Given the description of an element on the screen output the (x, y) to click on. 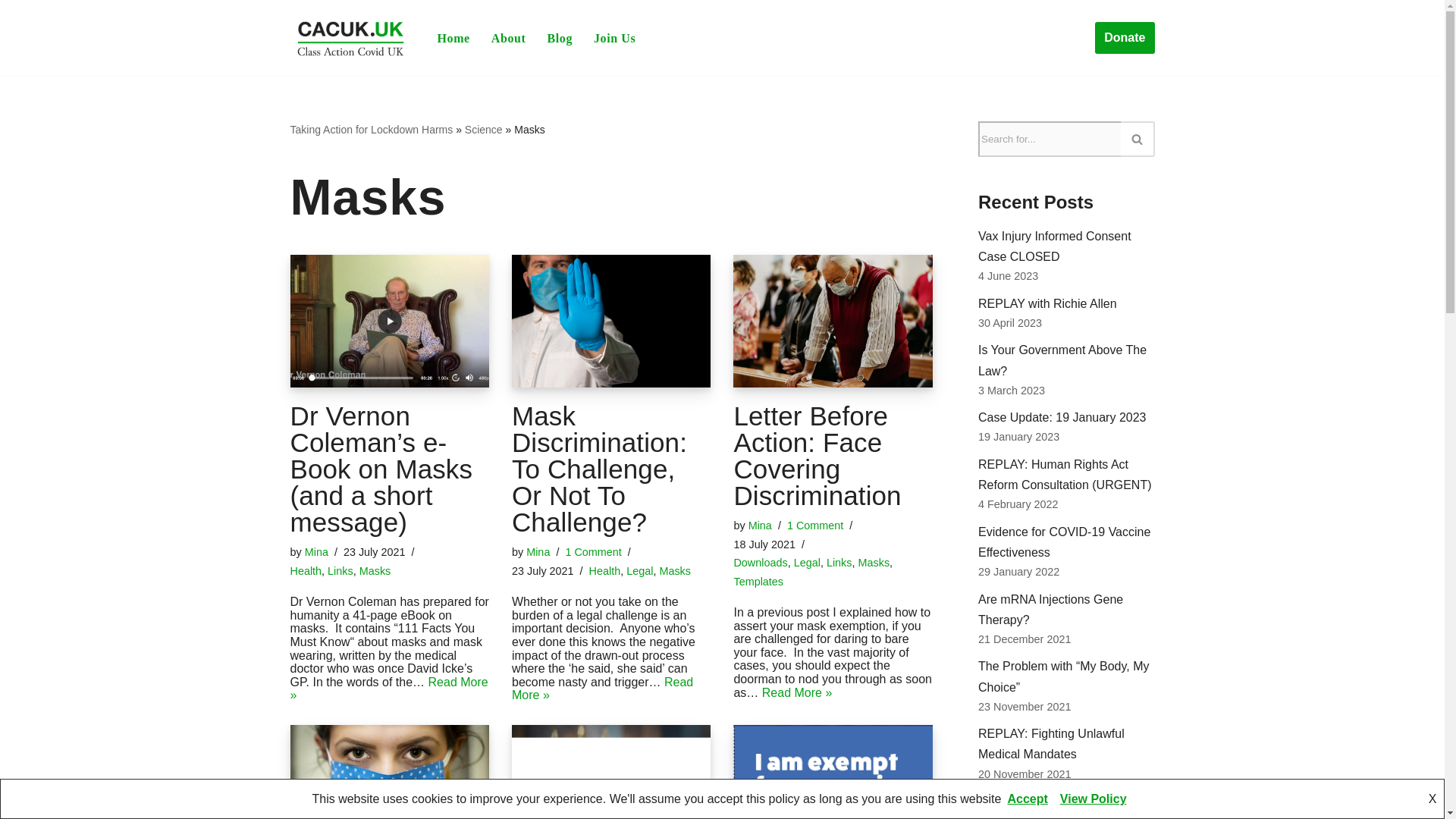
Mask Discrimination: To Challenge, Or Not To Challenge? (599, 469)
Masks (375, 571)
EVERYTHING You Need To Know About Masks!!! (388, 771)
Home (452, 37)
1 Comment (815, 525)
Masks (674, 571)
Legal (639, 571)
Downloads (760, 562)
Letter Before Action: Face Covering Discrimination (832, 320)
Skip to content (11, 31)
